Given the description of an element on the screen output the (x, y) to click on. 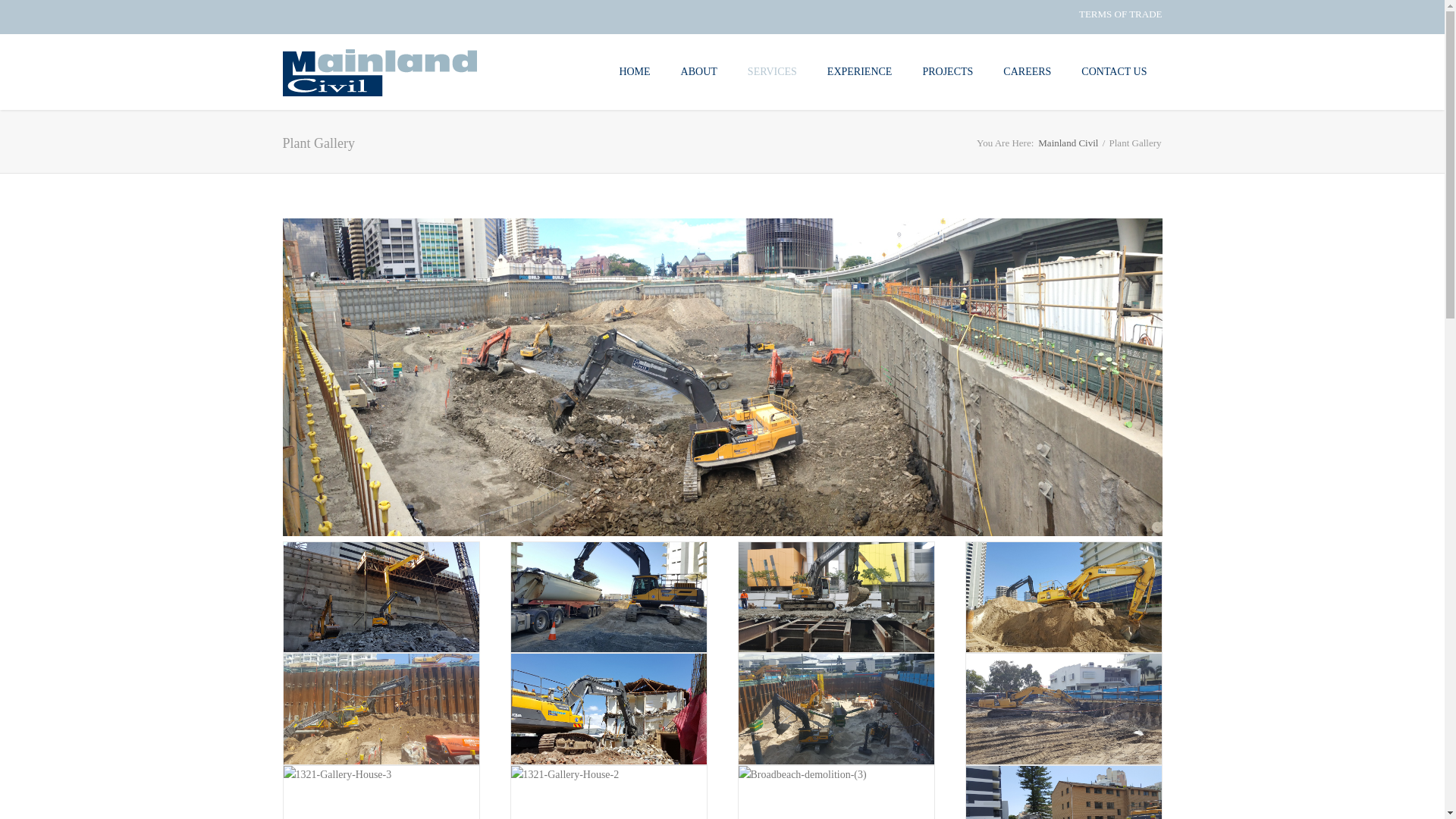
PROJECTS Element type: text (947, 71)
CONTACT US Element type: text (1113, 71)
Mainland Civil Element type: text (1068, 142)
CAREERS Element type: text (1027, 71)
HOME Element type: text (633, 71)
TERMS OF TRADE Element type: text (1120, 13)
ABOUT Element type: text (698, 71)
SERVICES Element type: text (772, 71)
EXPERIENCE Element type: text (859, 71)
